Given the description of an element on the screen output the (x, y) to click on. 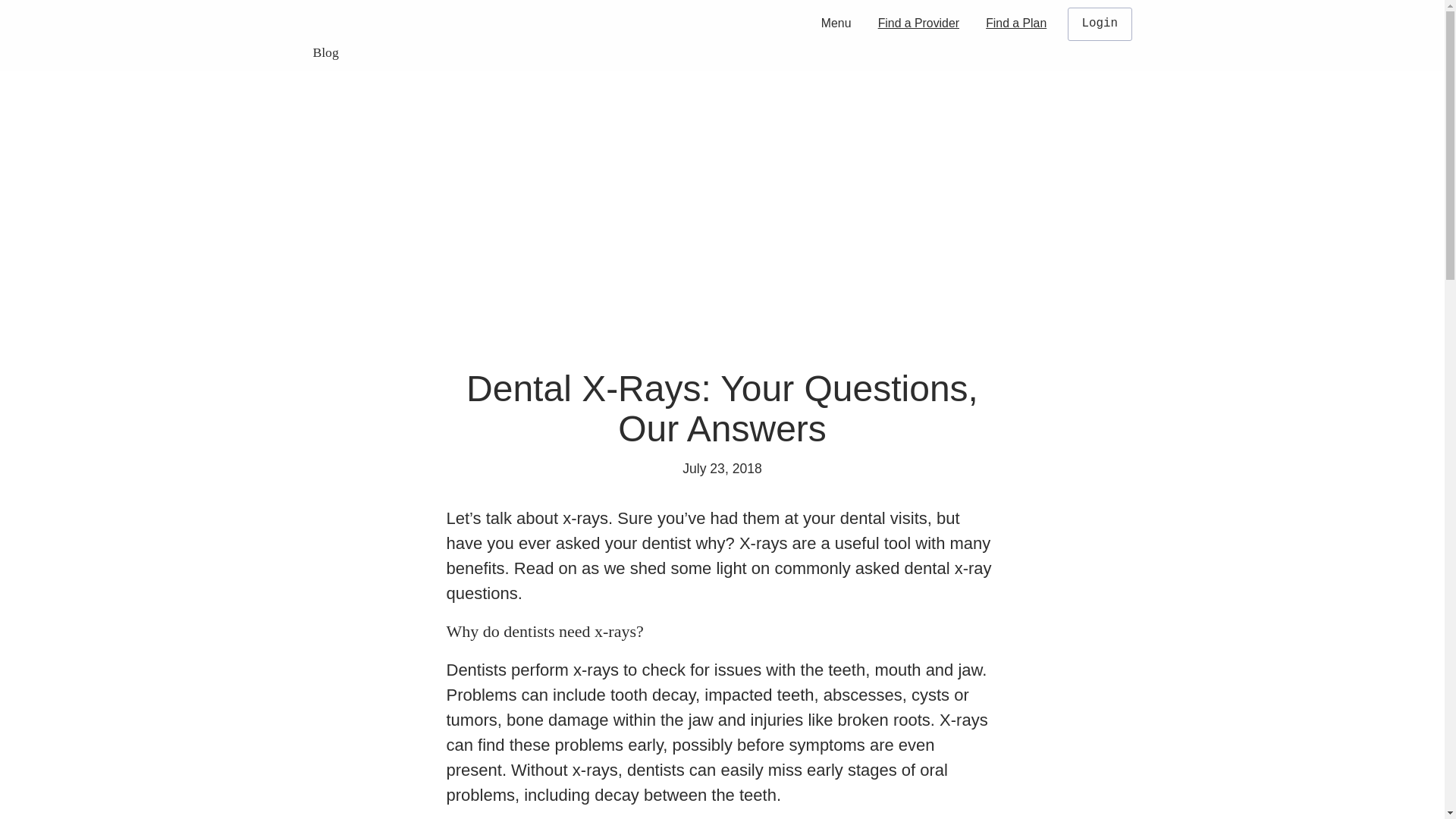
Menu (836, 23)
Find a Plan (1015, 23)
Find a Provider (918, 23)
Login (1099, 23)
